Given the description of an element on the screen output the (x, y) to click on. 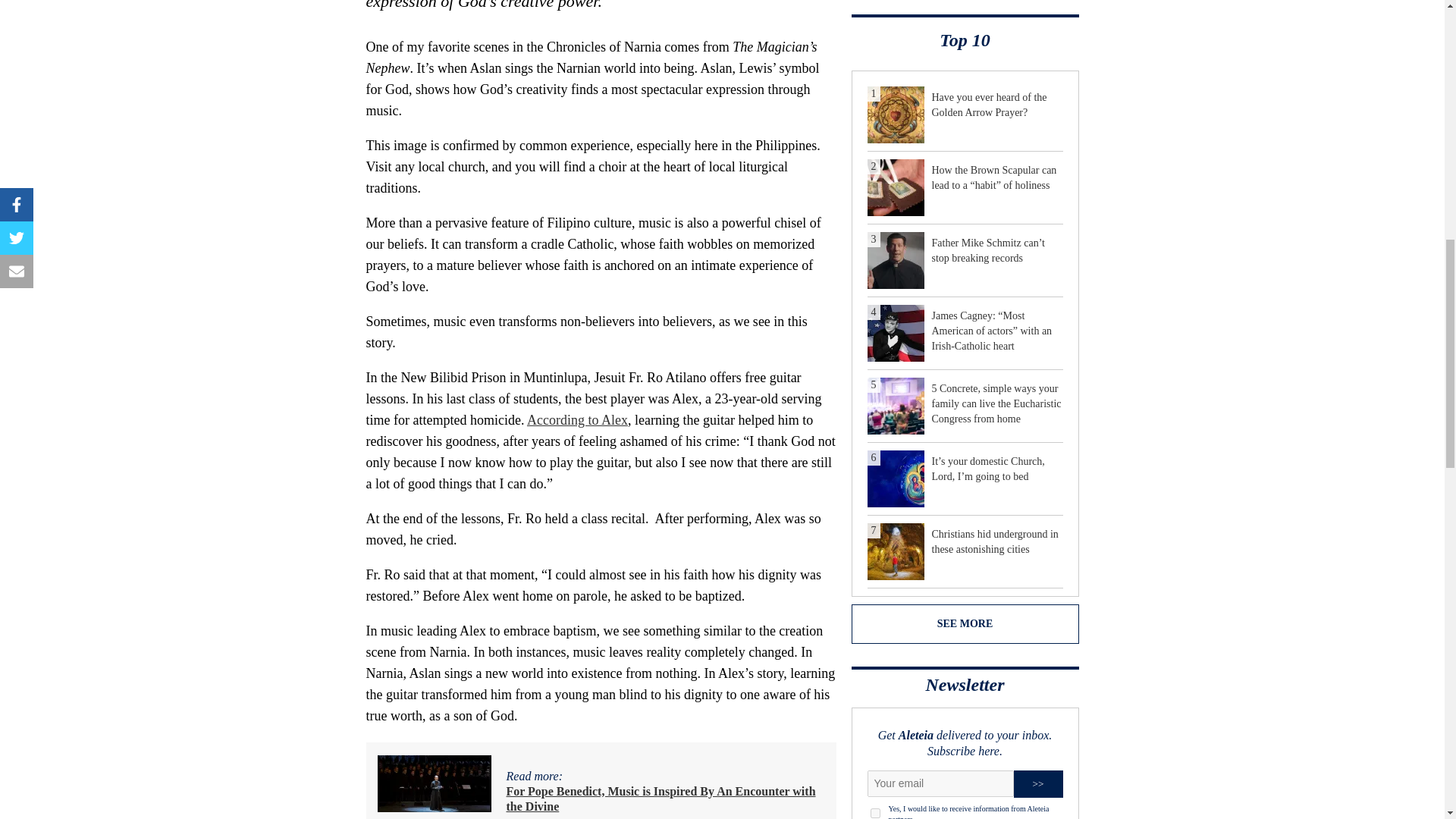
According to Alex (577, 419)
1 (875, 813)
